Given the description of an element on the screen output the (x, y) to click on. 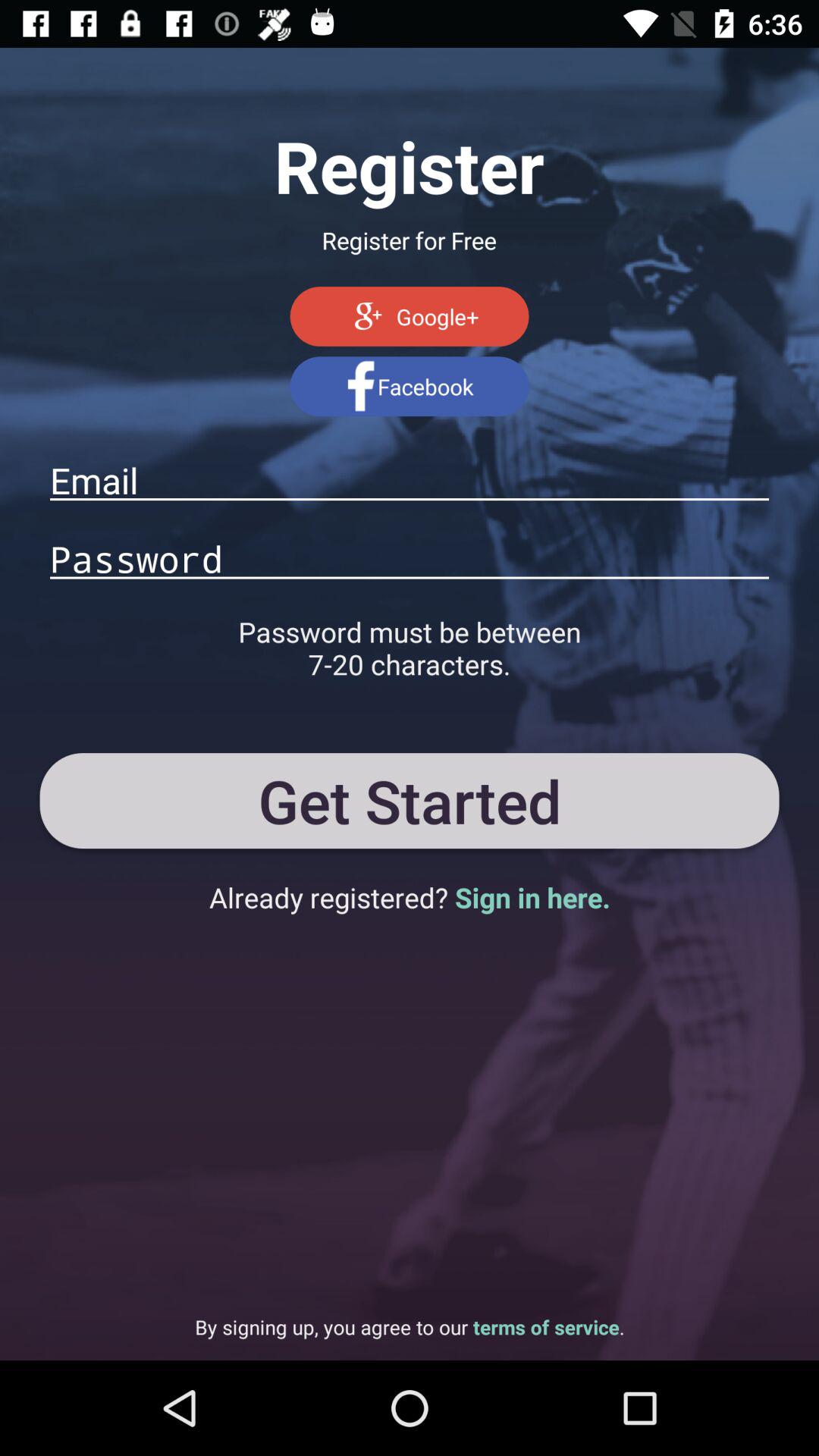
tap the icon above the already registered sign item (409, 800)
